Given the description of an element on the screen output the (x, y) to click on. 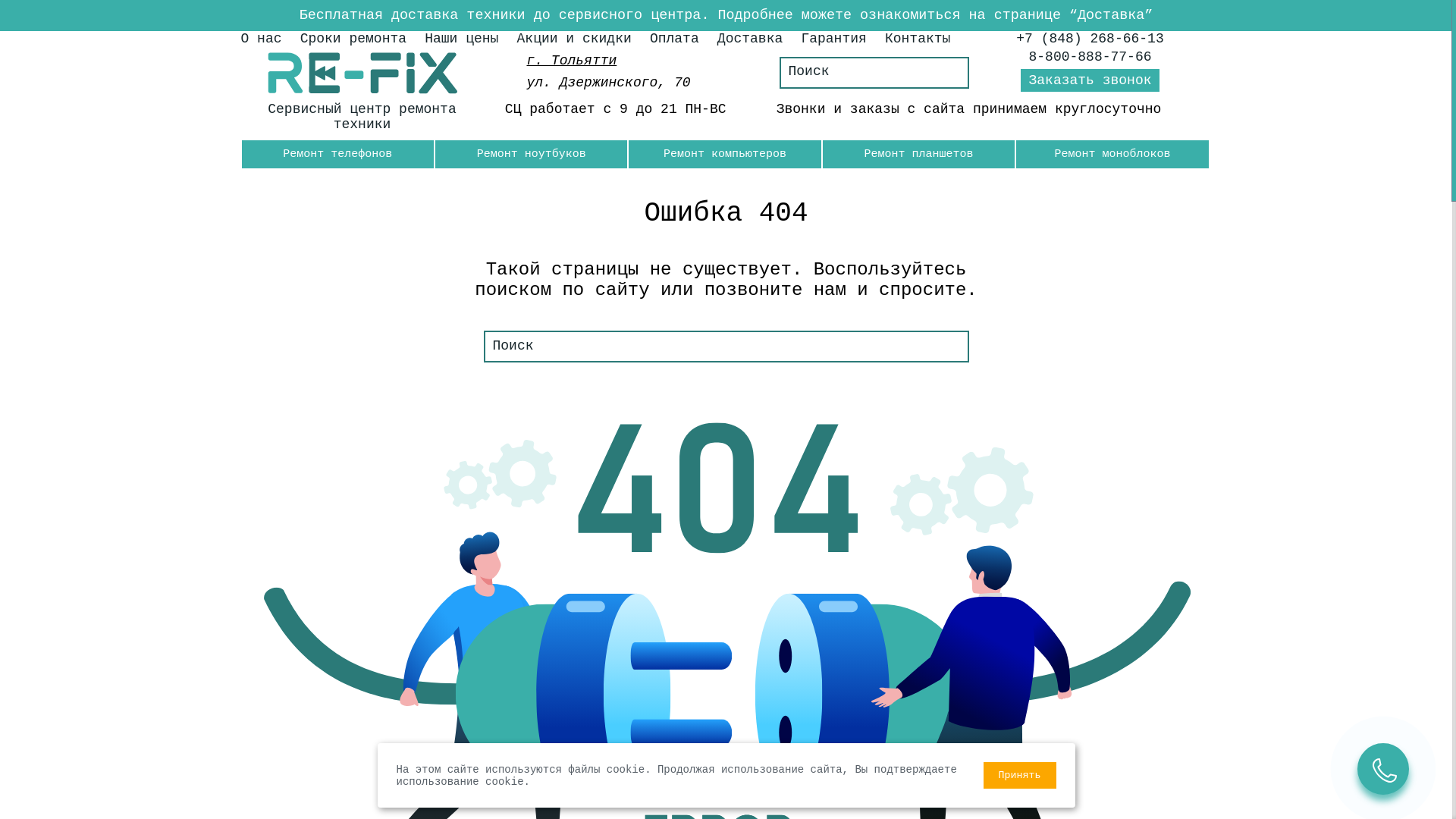
8-800-888-77-66 Element type: text (1090, 56)
+7 (848) 268-66-13 Element type: text (1089, 38)
